Given the description of an element on the screen output the (x, y) to click on. 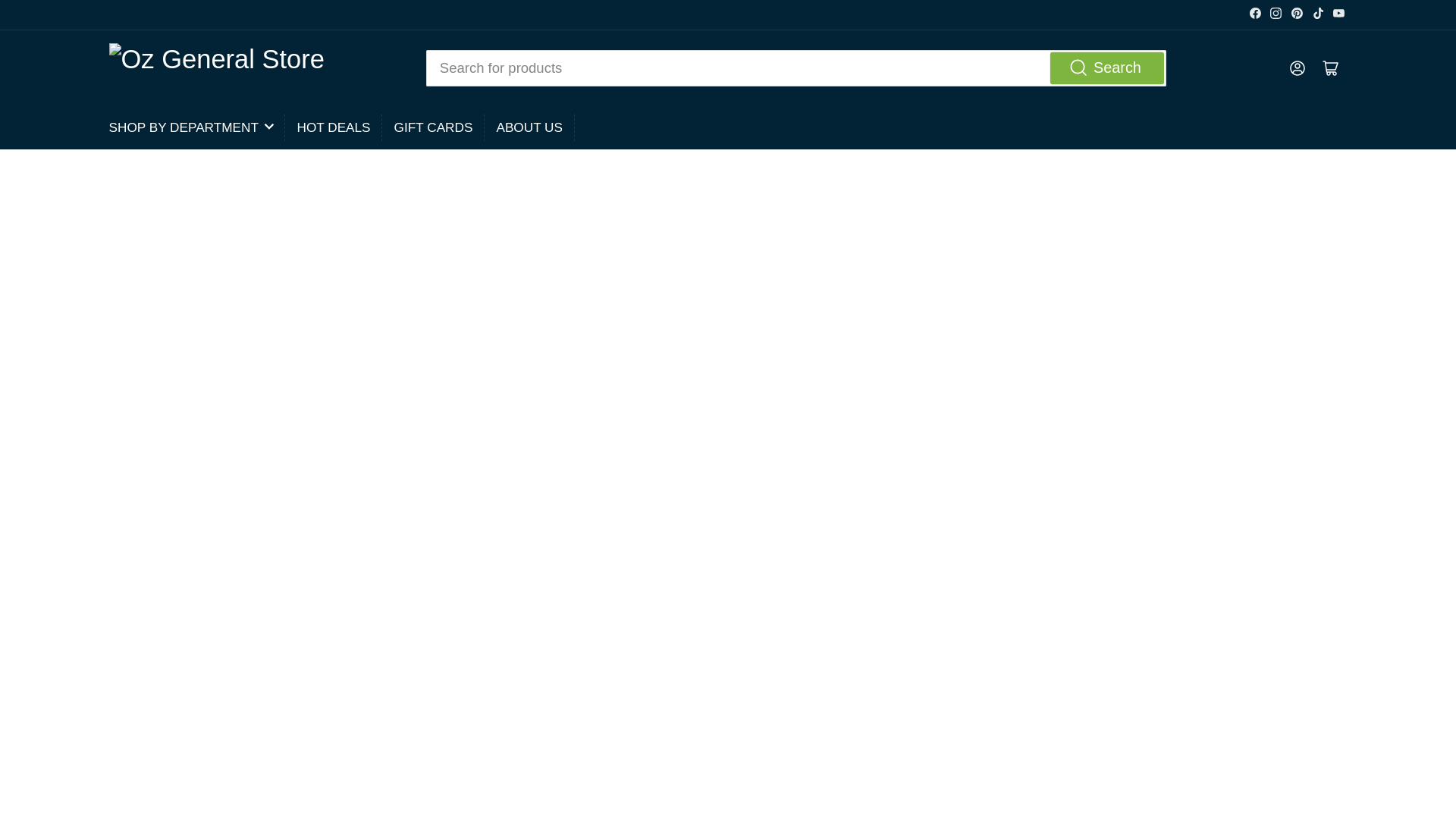
Pinterest (1297, 12)
Instagram (1276, 12)
Facebook (1254, 12)
Search (1107, 68)
SHOP BY DEPARTMENT (191, 127)
Log in (1296, 68)
TikTok (1317, 12)
Open mini cart (1329, 68)
YouTube (1339, 12)
